Given the description of an element on the screen output the (x, y) to click on. 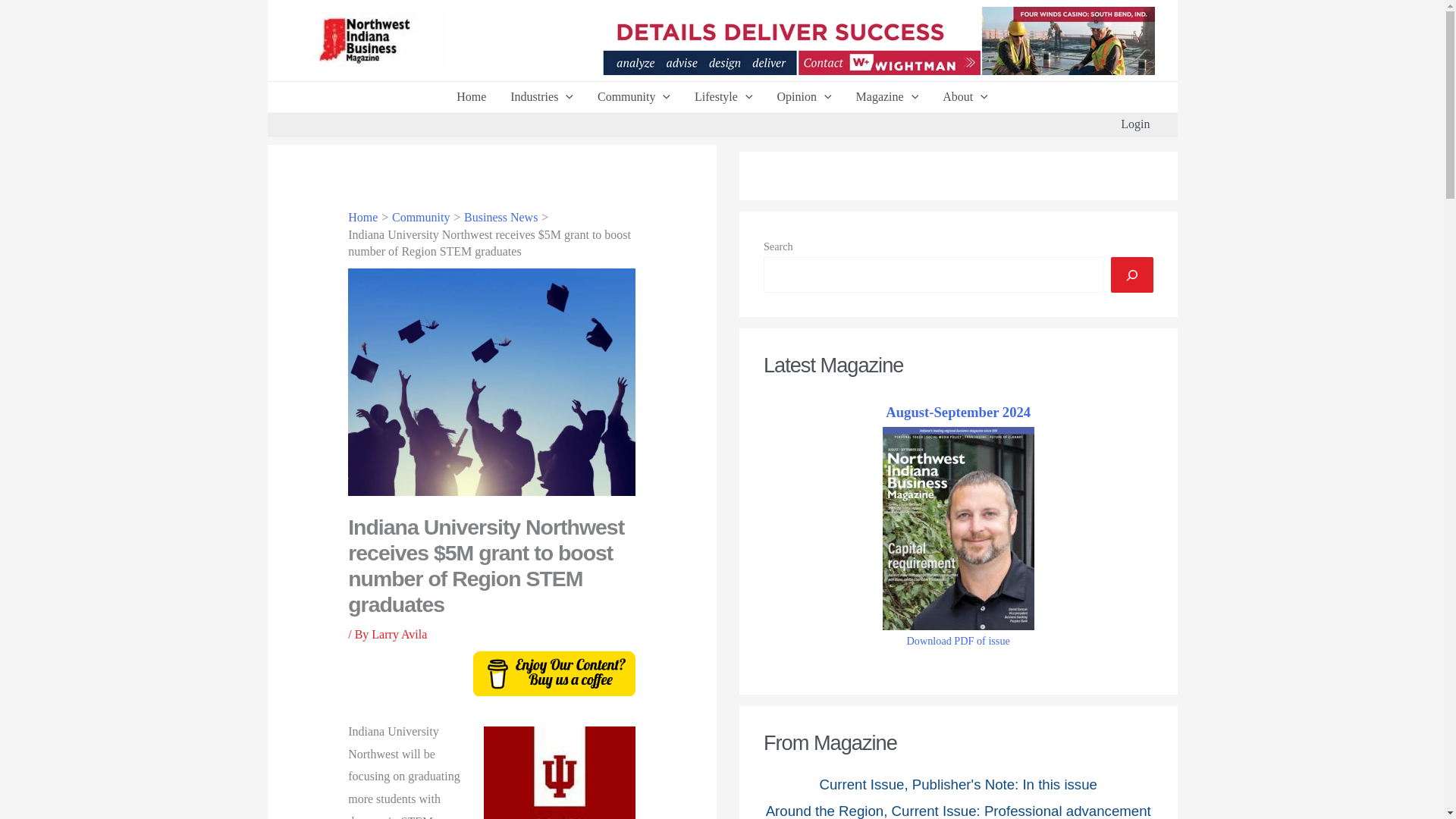
Community (633, 96)
Home (470, 96)
View all posts by Larry Avila (398, 634)
Industries (541, 96)
Opinion (803, 96)
Magazine (887, 96)
Lifestyle (723, 96)
